Given the description of an element on the screen output the (x, y) to click on. 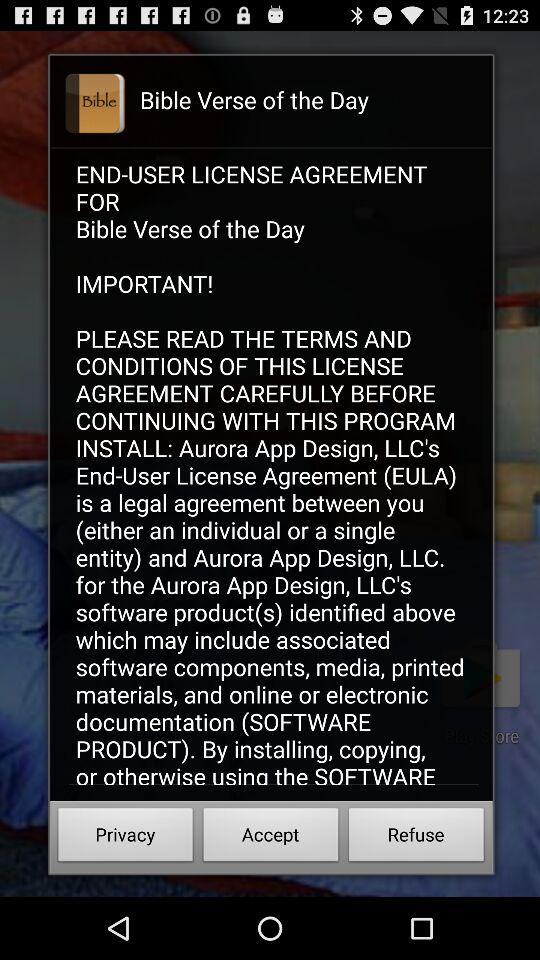
open icon to the left of refuse item (270, 837)
